Given the description of an element on the screen output the (x, y) to click on. 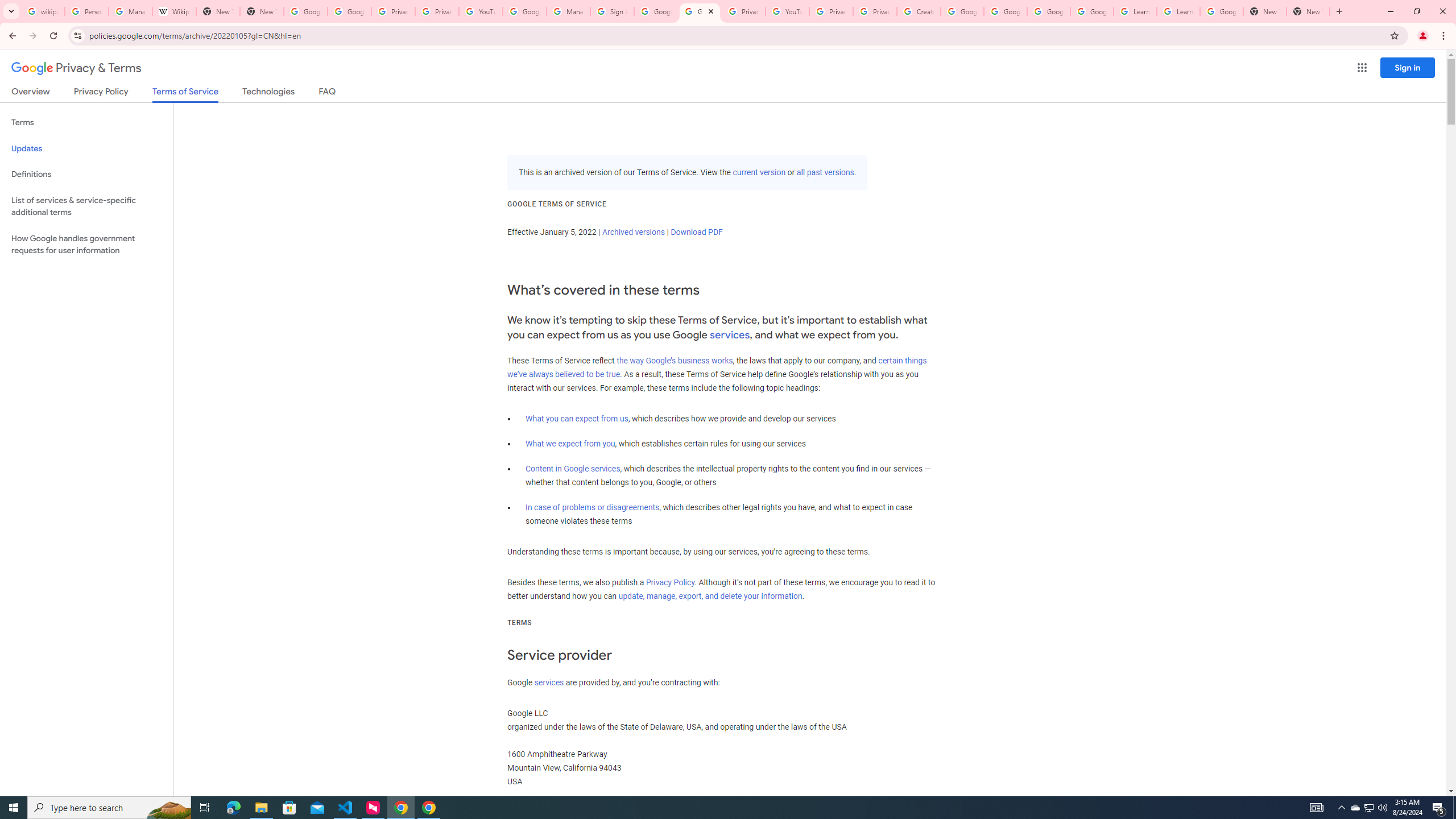
services (549, 682)
Personalization & Google Search results - Google Search Help (86, 11)
